Given the description of an element on the screen output the (x, y) to click on. 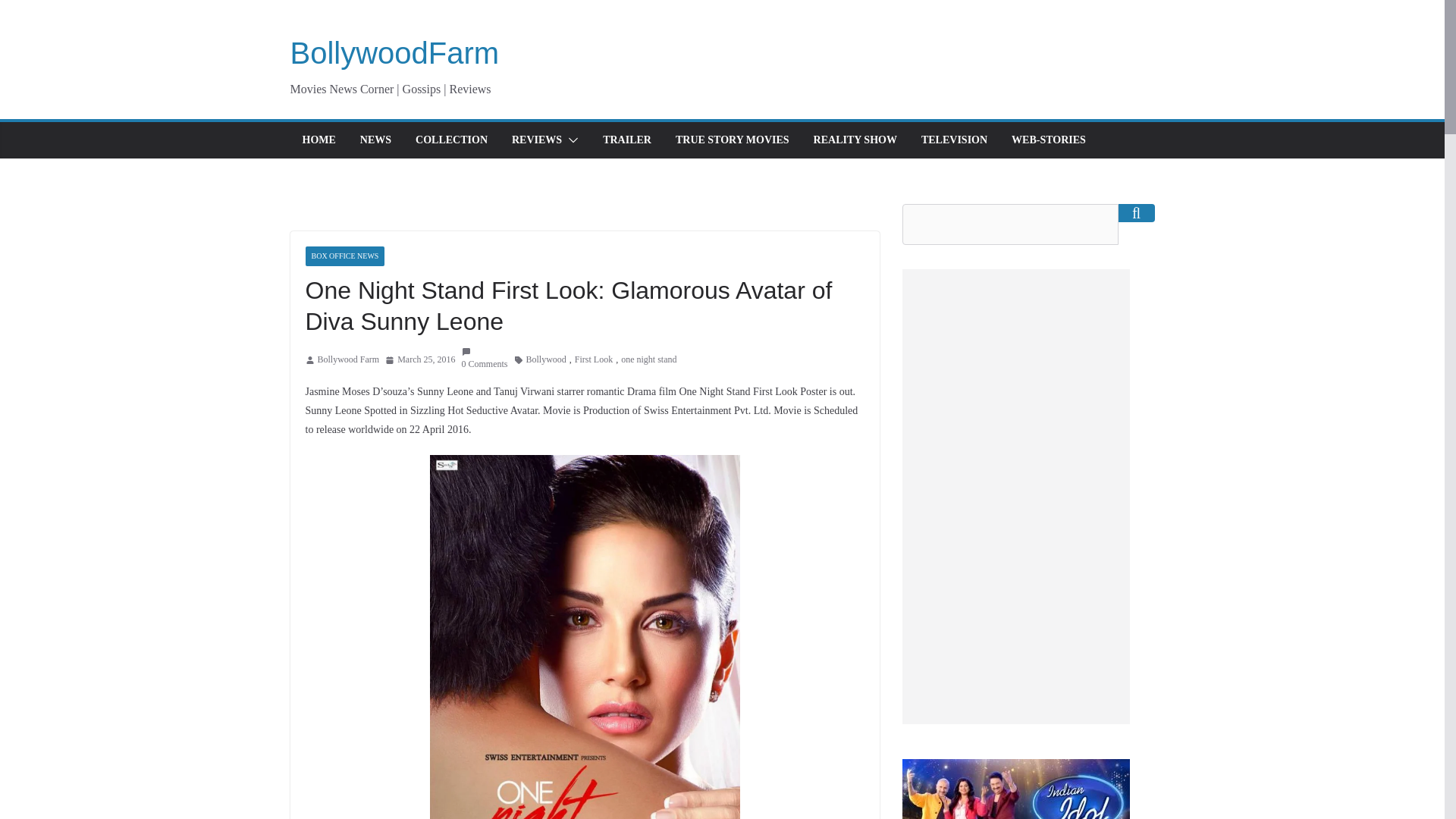
March 25, 2016 (419, 360)
one night stand (649, 360)
BOX OFFICE NEWS (344, 256)
BollywoodFarm (394, 52)
Bollywood (545, 360)
0 Comments (483, 360)
Bollywood Farm (347, 360)
BollywoodFarm (394, 52)
4:48 am (419, 360)
Bollywood Farm (347, 360)
